Given the description of an element on the screen output the (x, y) to click on. 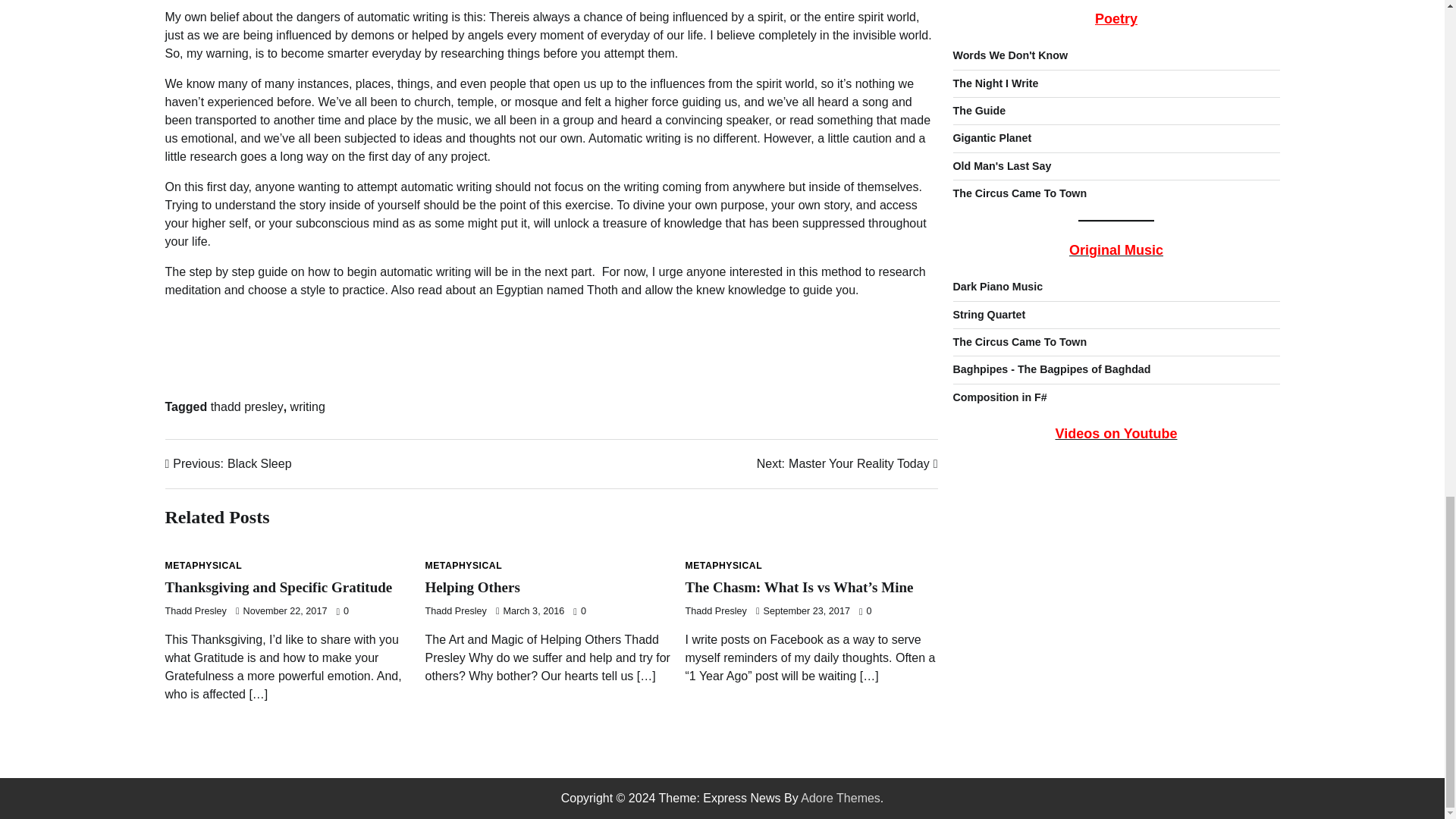
Thanksgiving and Specific Gratitude (279, 587)
The Circus Came To Town (847, 464)
YouTube video player (1019, 152)
The Circus Came To Town (1115, 410)
writing (1019, 4)
Baghpipes - The Bagpipes of Baghdad (306, 406)
Thadd Presley (1051, 179)
thadd presley (455, 611)
Thadd Presley (247, 406)
METAPHYSICAL (196, 611)
String Quartet (204, 565)
Dark Piano Music (988, 124)
Thadd Presley (997, 96)
